Given the description of an element on the screen output the (x, y) to click on. 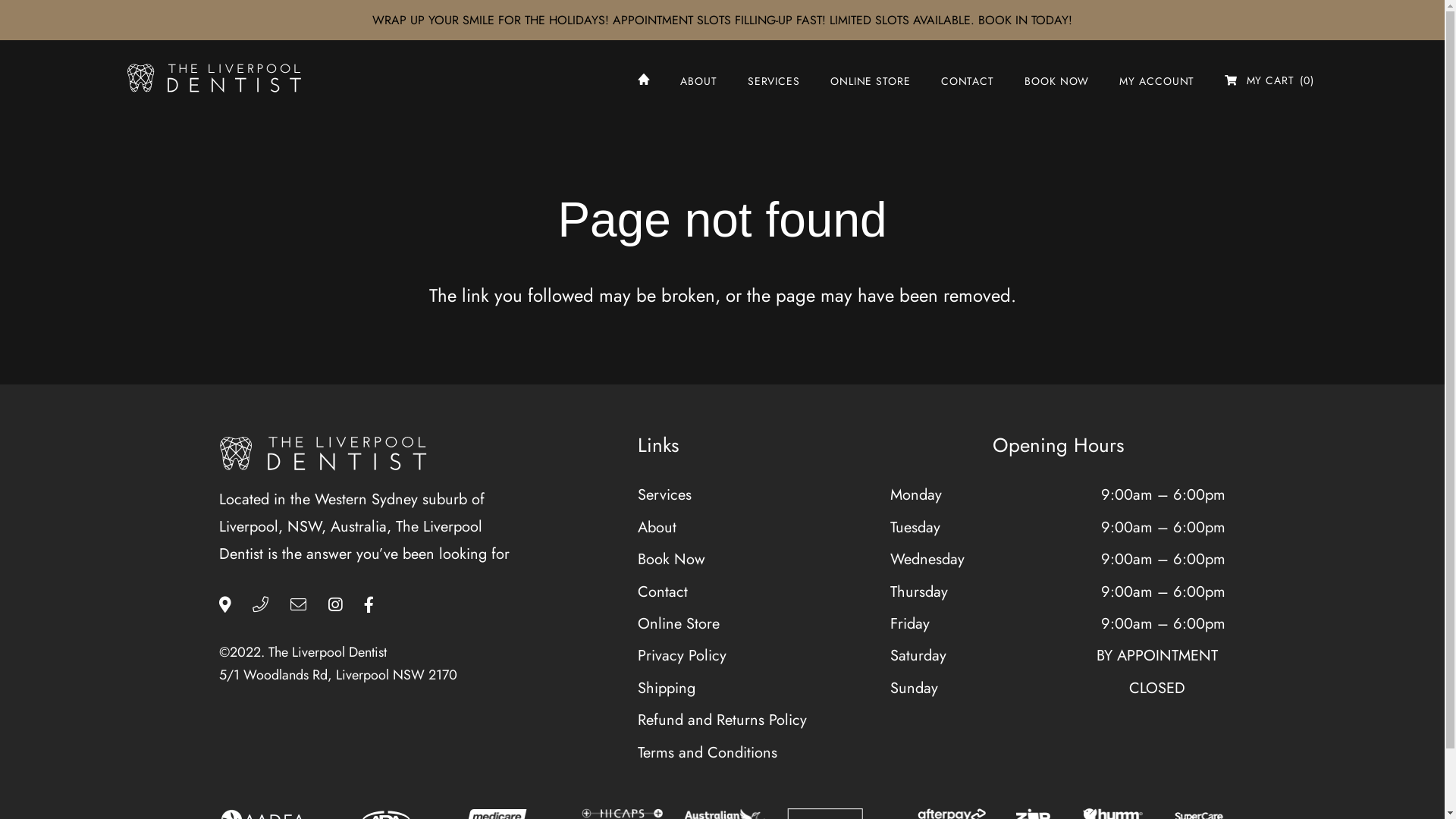
Refund and Returns Policy Element type: text (721, 720)
SERVICES Element type: text (773, 78)
Online Store Element type: text (678, 623)
Contact Element type: text (662, 591)
Services Element type: text (664, 494)
CONTACT Element type: text (967, 78)
Privacy Policy Element type: text (681, 655)
MY ACCOUNT Element type: text (1156, 78)
Terms and Conditions Element type: text (707, 752)
ABOUT Element type: text (698, 78)
Shipping Element type: text (666, 688)
About Element type: text (656, 527)
BOOK NOW Element type: text (1056, 78)
Book Now Element type: text (671, 559)
ONLINE STORE Element type: text (870, 78)
MY CART (0) Element type: text (1268, 78)
